Given the description of an element on the screen output the (x, y) to click on. 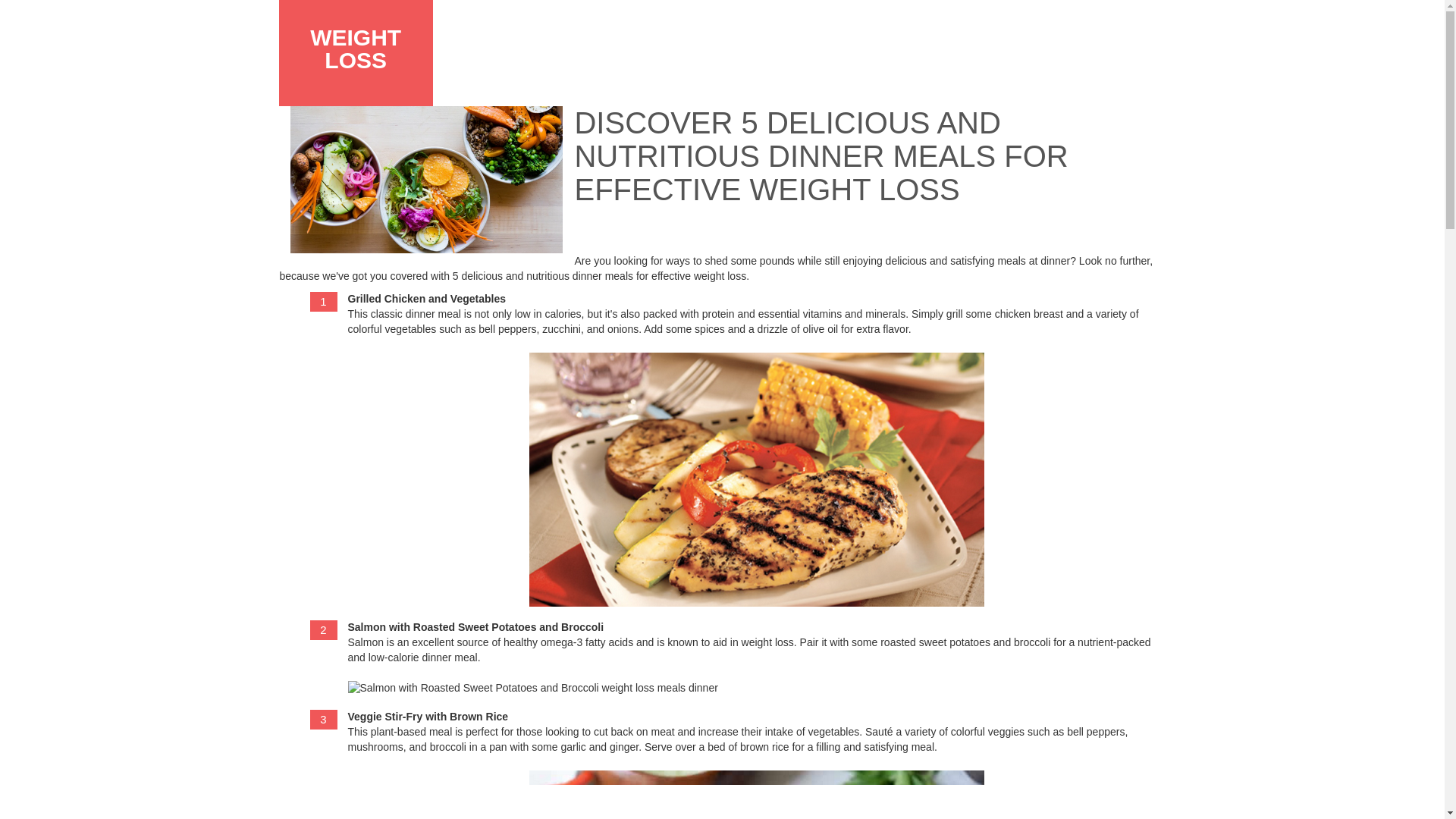
WEIGHT LOSS (355, 48)
